Given the description of an element on the screen output the (x, y) to click on. 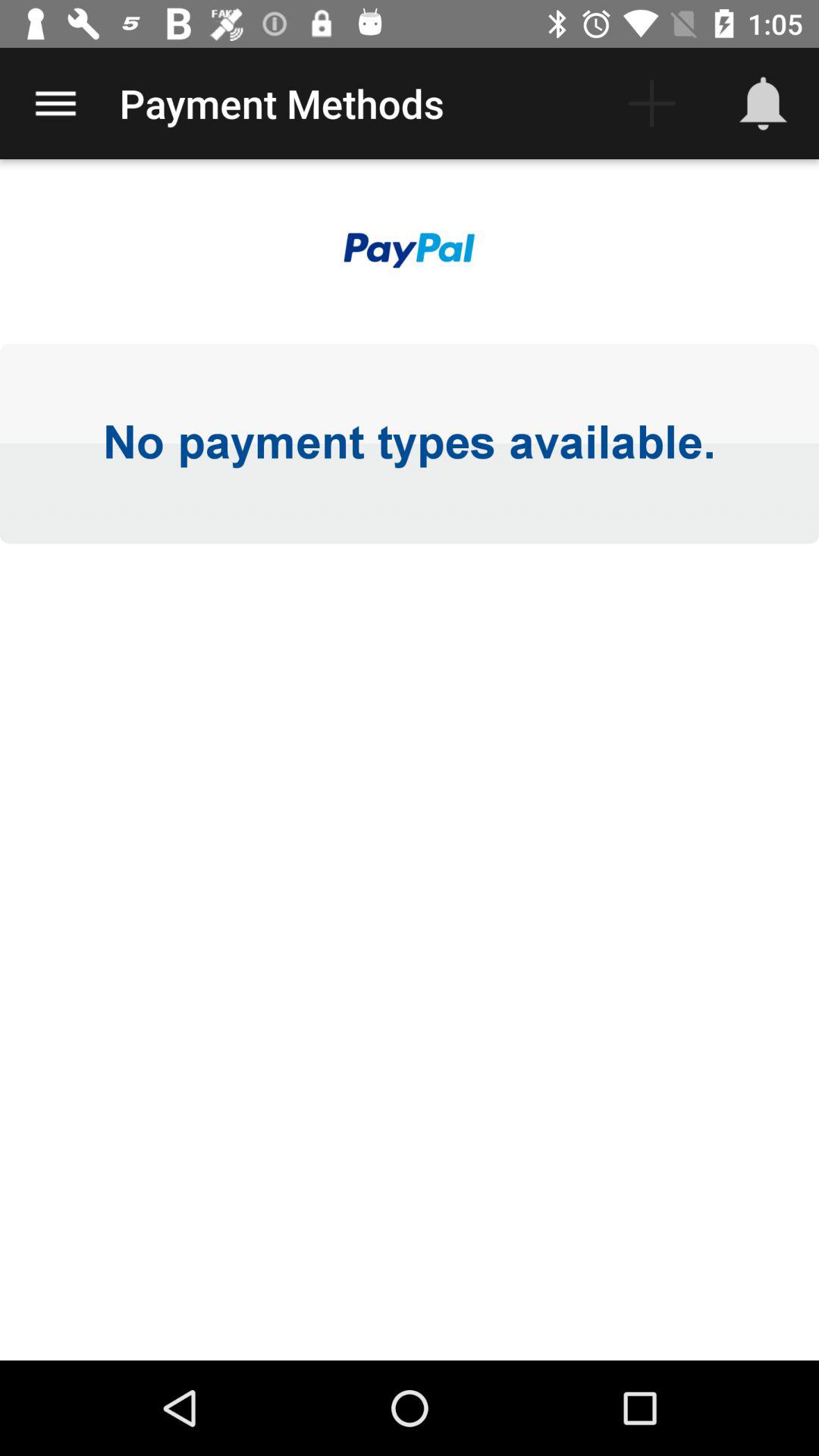
press the item above the no payment types (409, 251)
